Given the description of an element on the screen output the (x, y) to click on. 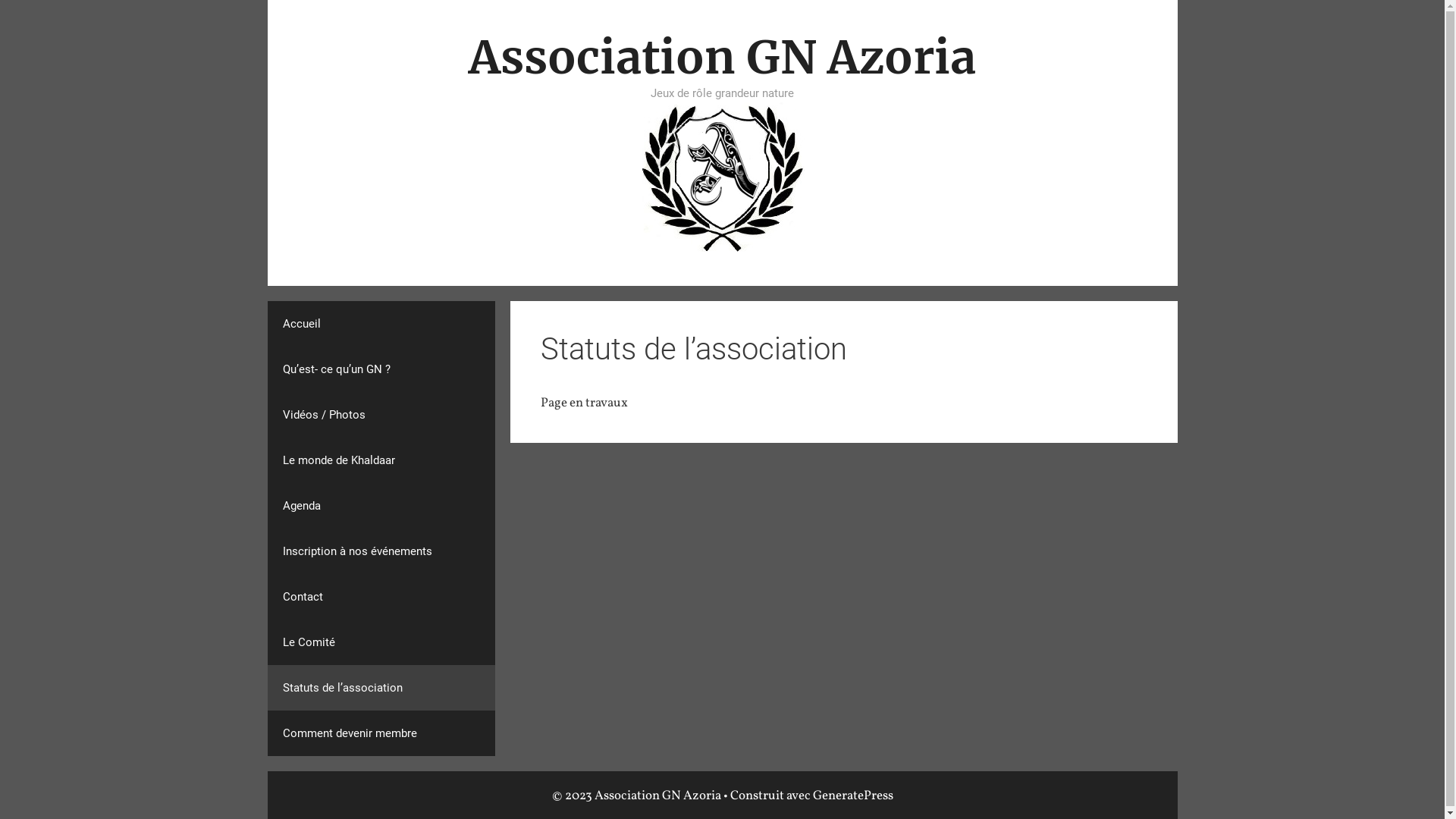
Association GN Azoria Element type: hover (721, 177)
GeneratePress Element type: text (852, 795)
Le monde de Khaldaar Element type: text (380, 459)
Comment devenir membre Element type: text (380, 732)
Association GN Azoria Element type: text (721, 56)
Agenda Element type: text (380, 504)
Accueil Element type: text (380, 322)
Contact Element type: text (380, 595)
Association GN Azoria Element type: hover (721, 177)
